Given the description of an element on the screen output the (x, y) to click on. 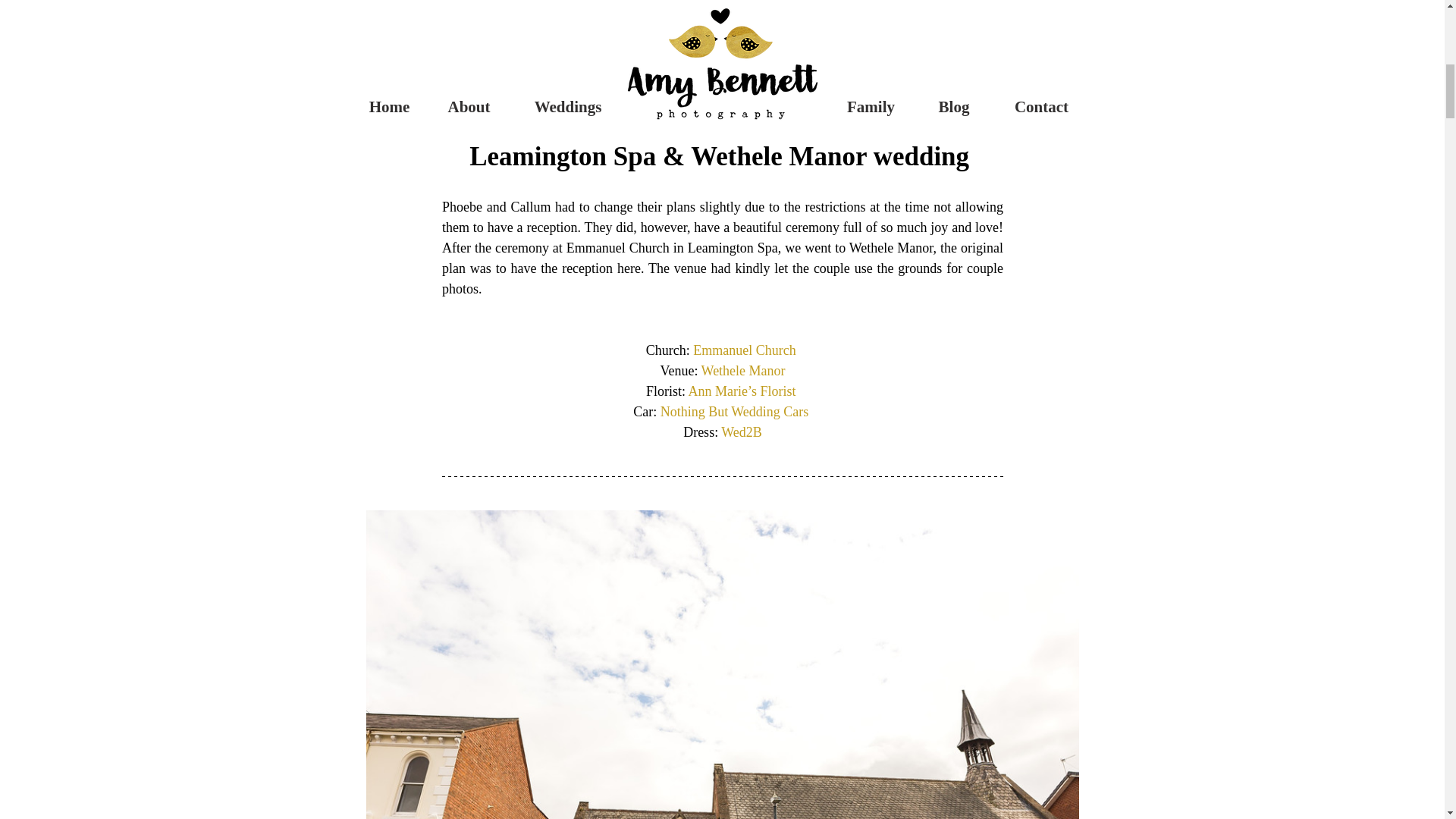
Wethele Manor (742, 370)
Wed2B (740, 432)
Emmanuel Church (743, 350)
Nothing But Wedding Cars (733, 411)
